Given the description of an element on the screen output the (x, y) to click on. 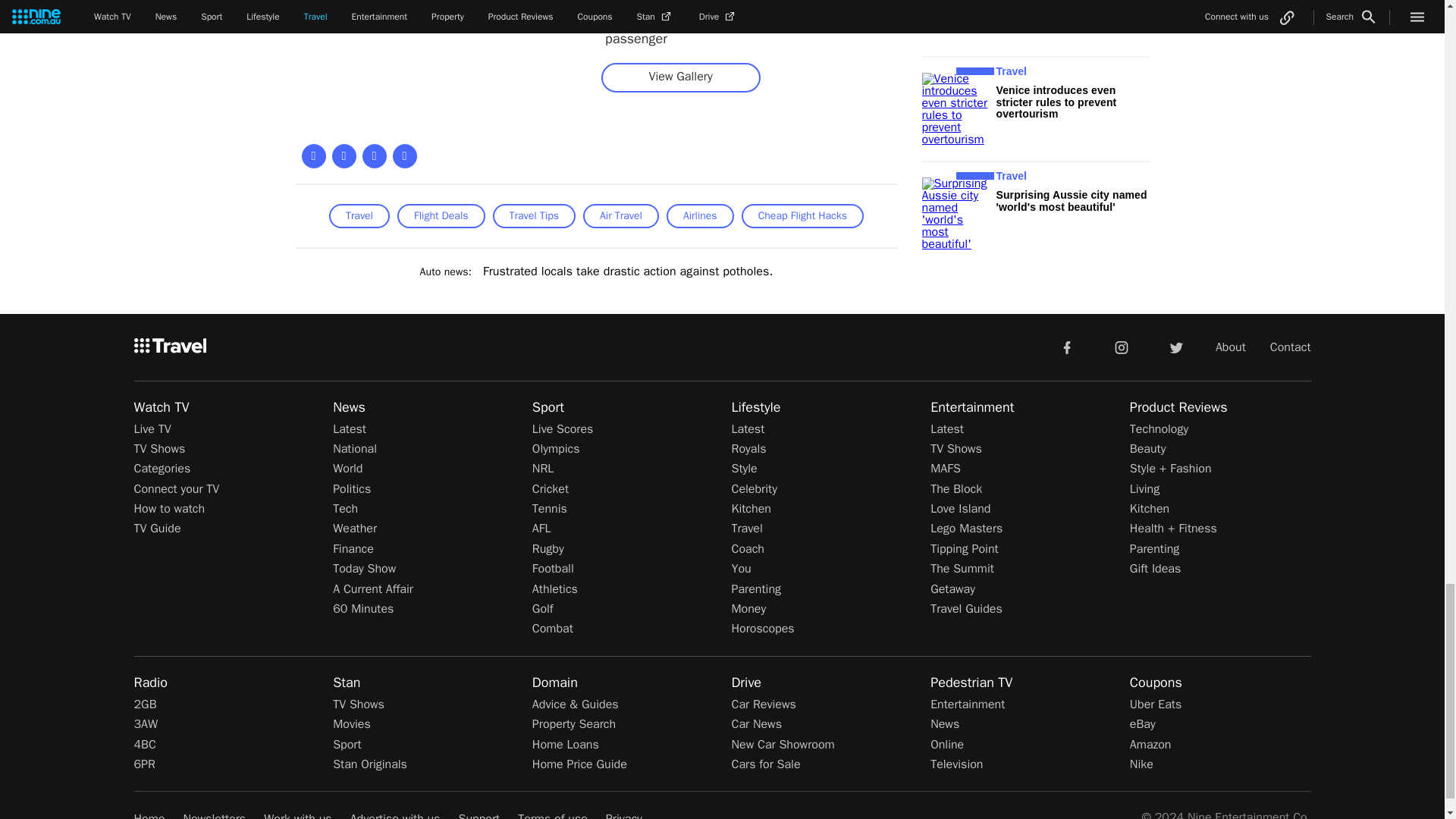
twitter (1175, 346)
instagram (1121, 346)
facebook (1066, 346)
